Given the description of an element on the screen output the (x, y) to click on. 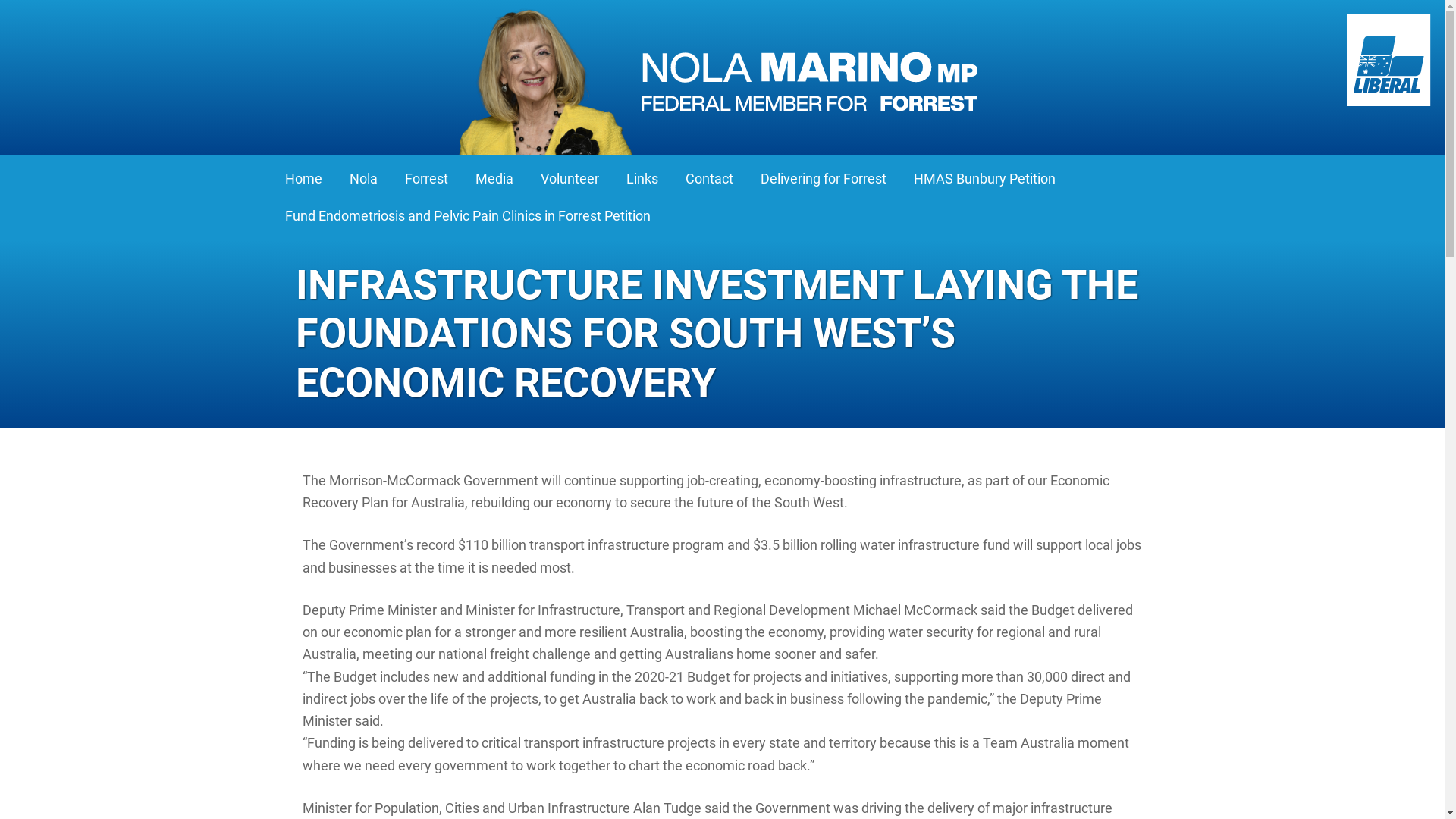
Links Element type: text (641, 178)
Delivering for Forrest Element type: text (823, 178)
Contact Element type: text (708, 178)
Volunteer Element type: text (569, 178)
Nola Element type: text (363, 178)
Home Element type: text (303, 178)
Forrest Element type: text (426, 178)
Media Element type: text (494, 178)
HMAS Bunbury Petition Element type: text (984, 178)
